Given the description of an element on the screen output the (x, y) to click on. 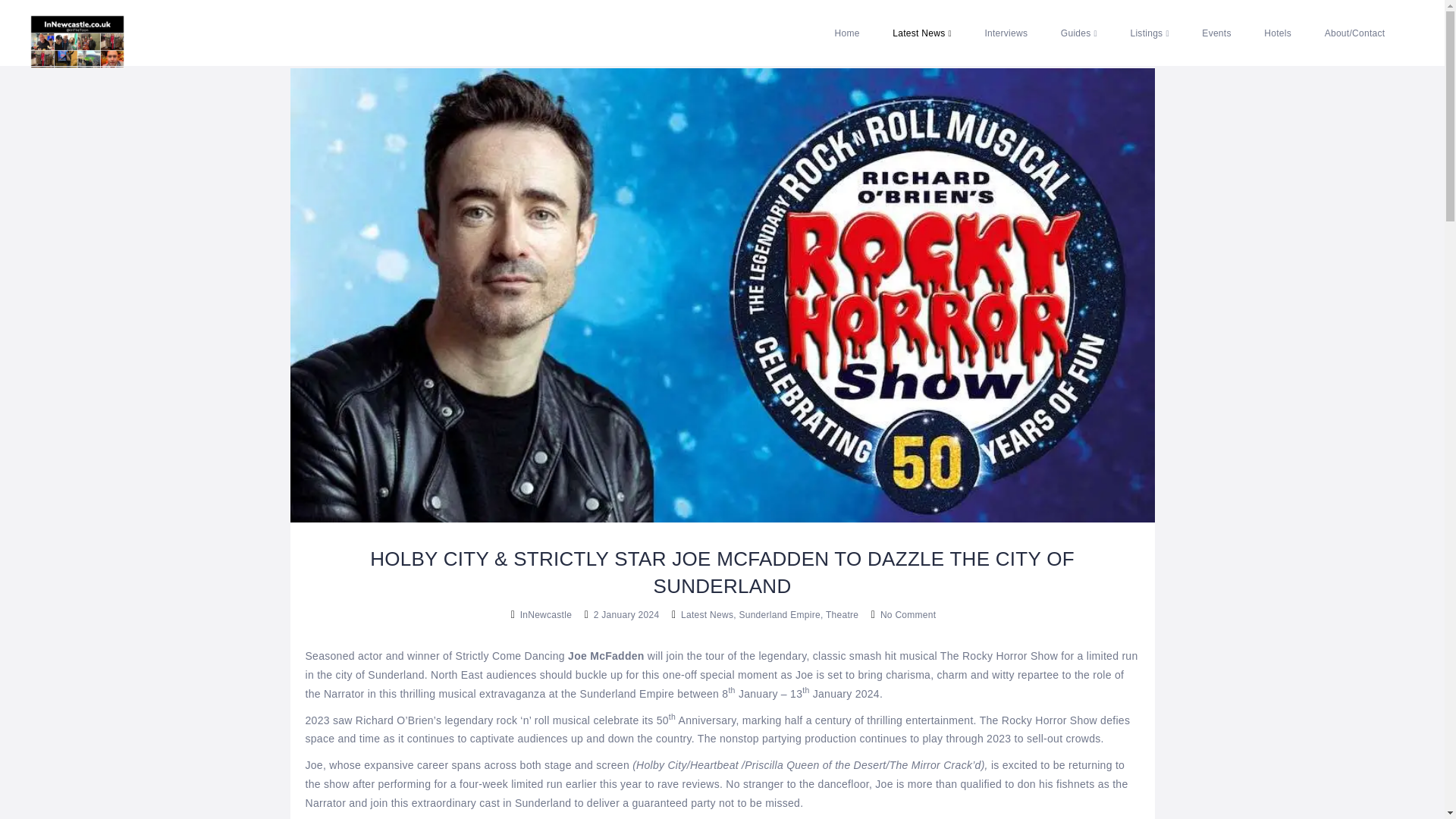
Latest News (921, 33)
Guides (1078, 33)
Listings (1149, 33)
Interviews (1005, 33)
Sunderland Empire (627, 693)
